Given the description of an element on the screen output the (x, y) to click on. 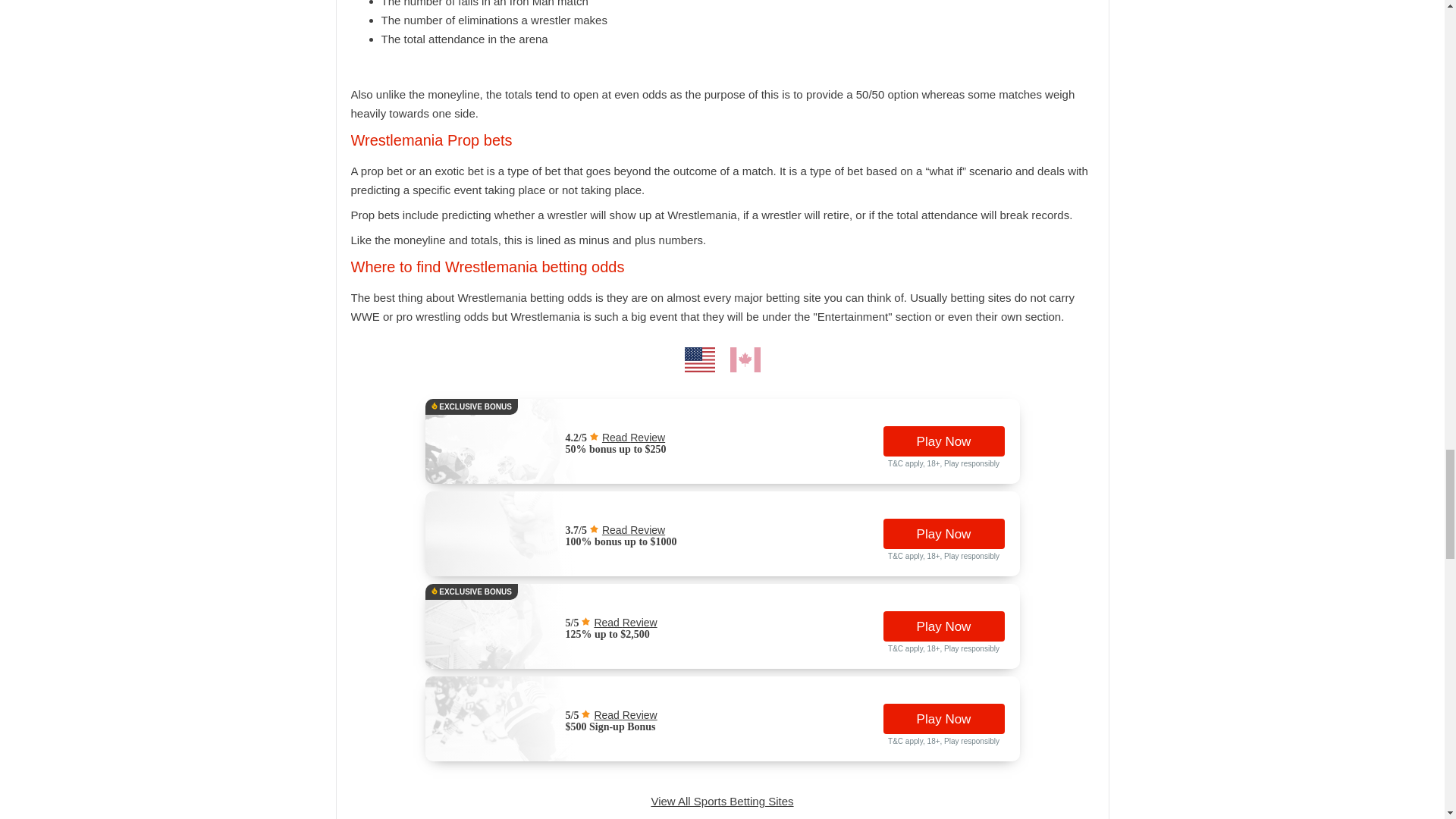
bovada (505, 452)
betonline (505, 544)
betus (505, 637)
xbet (505, 729)
